Given the description of an element on the screen output the (x, y) to click on. 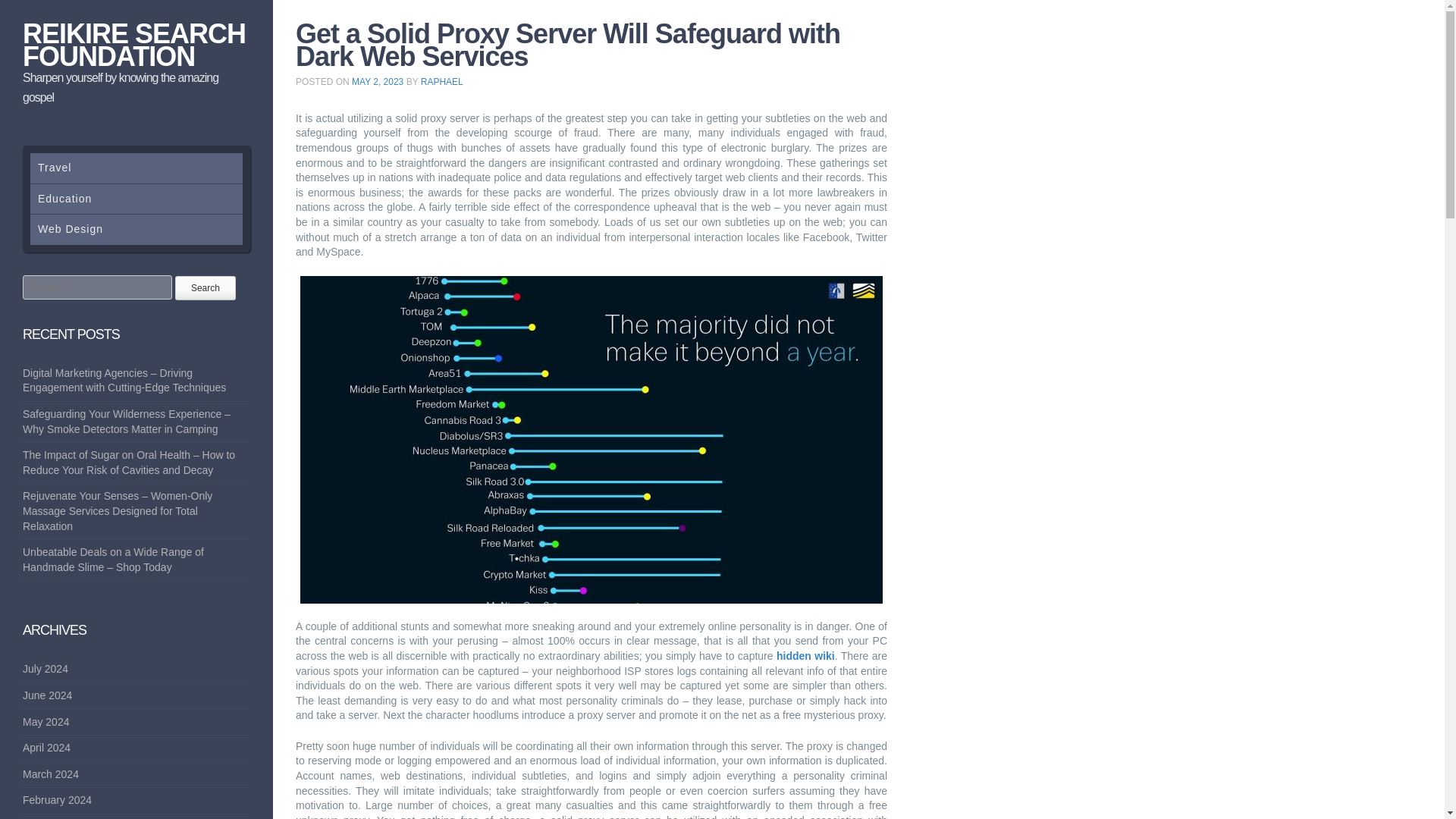
Search (204, 288)
June 2024 (47, 695)
REIKIRE SEARCH FOUNDATION (134, 45)
May 2024 (45, 721)
April 2024 (46, 747)
March 2024 (50, 774)
February 2024 (57, 799)
View all posts by Raphael (441, 81)
July 2024 (45, 668)
Travel (136, 168)
Search (204, 288)
Reikire Search Foundation (134, 45)
Education (136, 198)
Web Design (136, 228)
6:08 am (377, 81)
